Given the description of an element on the screen output the (x, y) to click on. 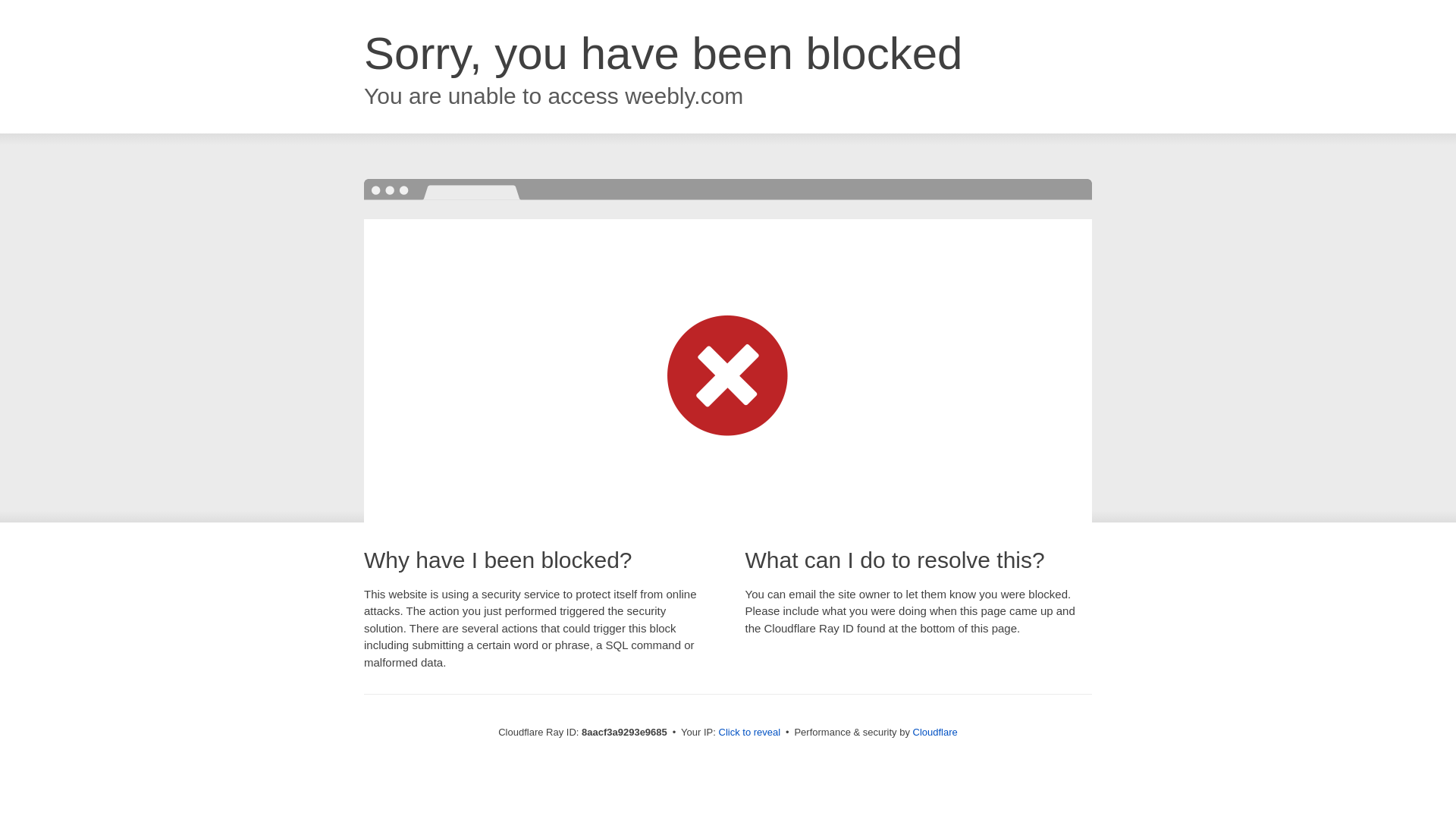
Cloudflare (935, 731)
Click to reveal (749, 732)
